Given the description of an element on the screen output the (x, y) to click on. 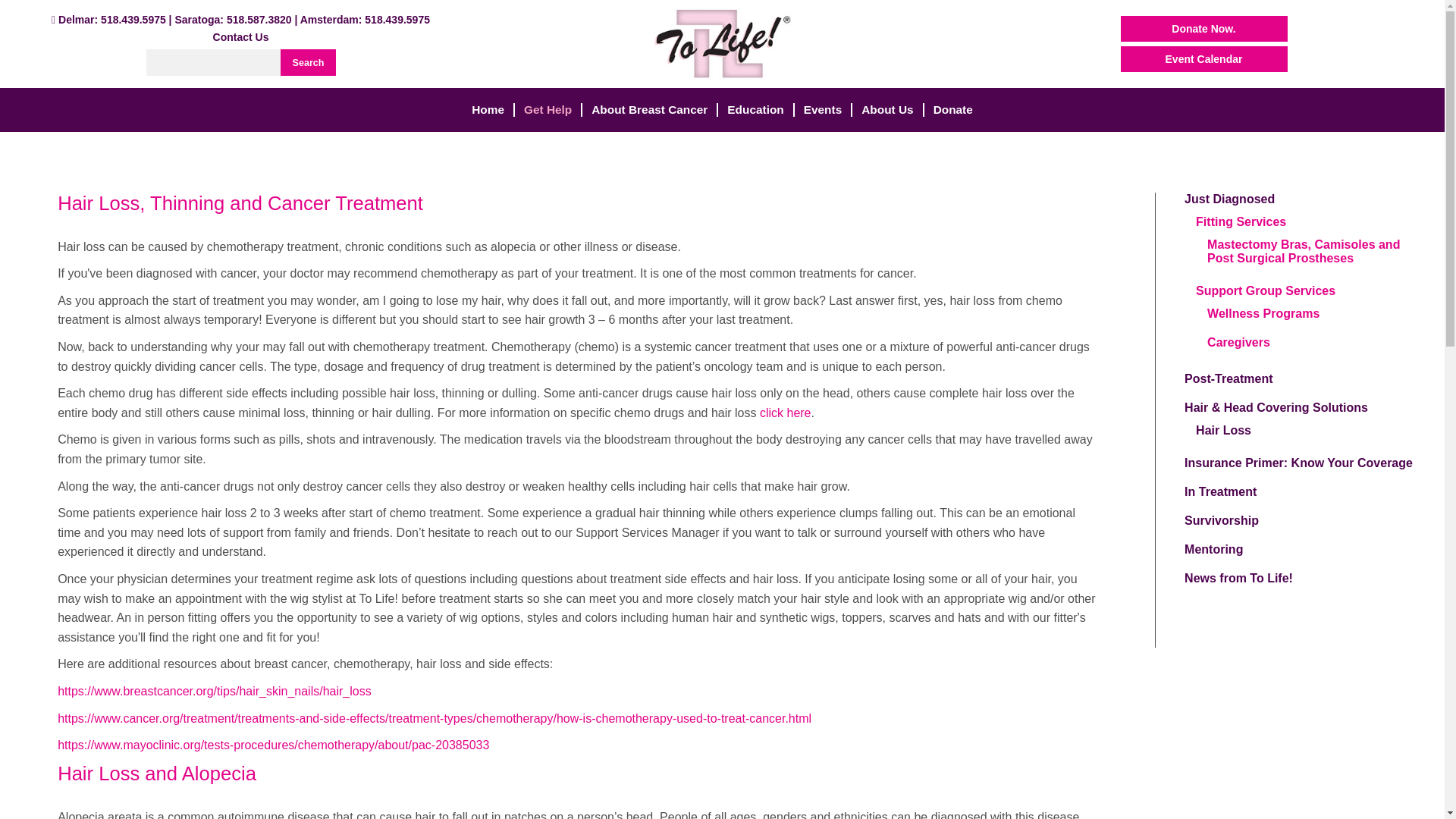
Search (307, 62)
Donate Now. (1204, 28)
Get Help (548, 110)
Search (307, 62)
Event Calendar (1204, 58)
Search (307, 62)
518.587.3820 (259, 19)
About Breast Cancer (649, 110)
Contact Us (240, 37)
518.439.5975 (132, 19)
